Given the description of an element on the screen output the (x, y) to click on. 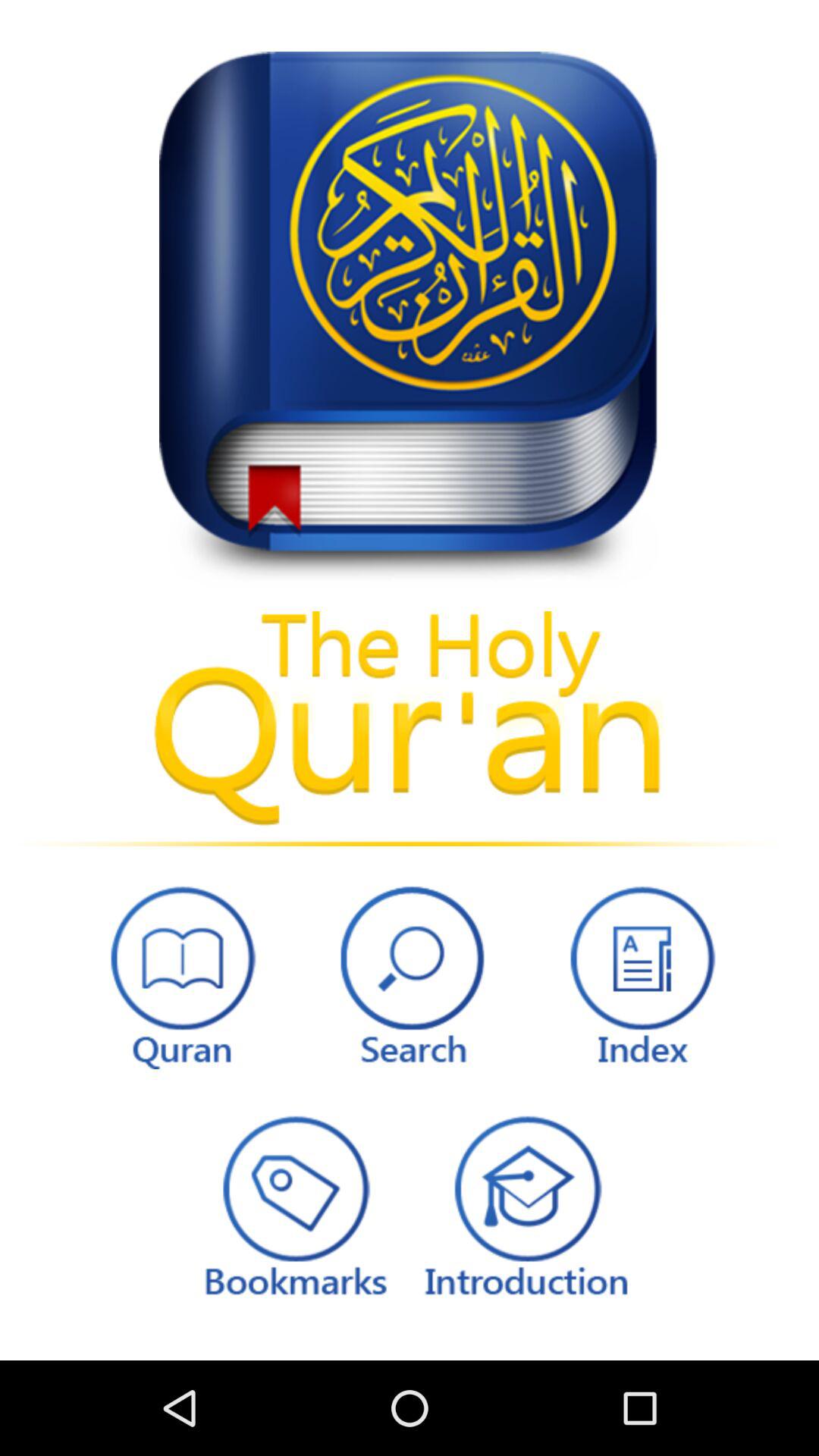
open quran to read (179, 973)
